Given the description of an element on the screen output the (x, y) to click on. 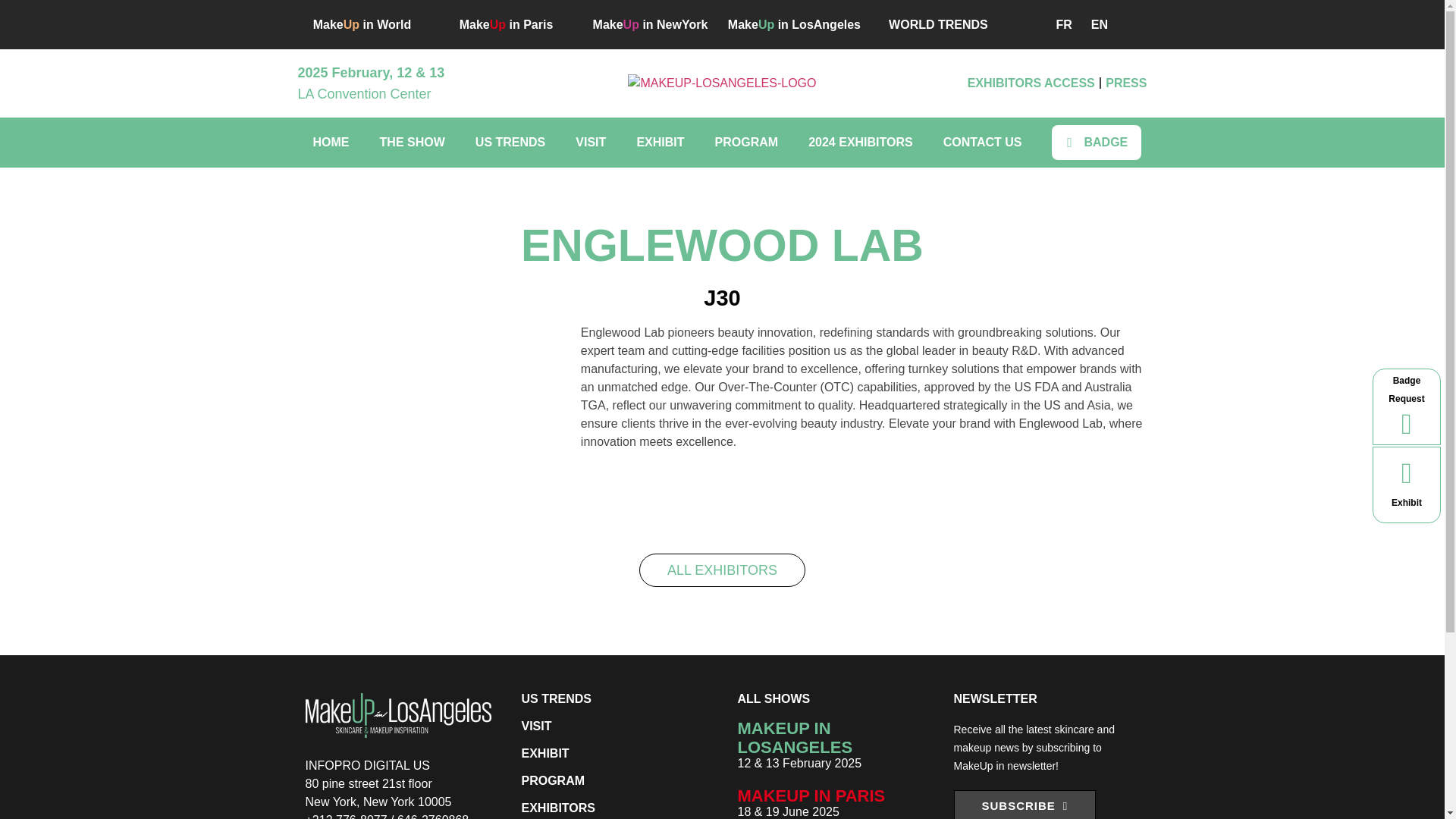
THE SHOW (412, 142)
EXHIBITORS ACCESS (1031, 82)
US TRENDS (510, 142)
MakeUp in World (362, 24)
CONTACT US (982, 142)
MakeUp in Paris (506, 24)
VISIT (590, 142)
MakeUp in NewYork (649, 24)
MakeUp in LosAngeles (794, 24)
FR (1059, 24)
EN (1095, 24)
HOME (330, 142)
PROGRAM (746, 142)
PRESS (1126, 82)
WORLD TRENDS (938, 24)
